Given the description of an element on the screen output the (x, y) to click on. 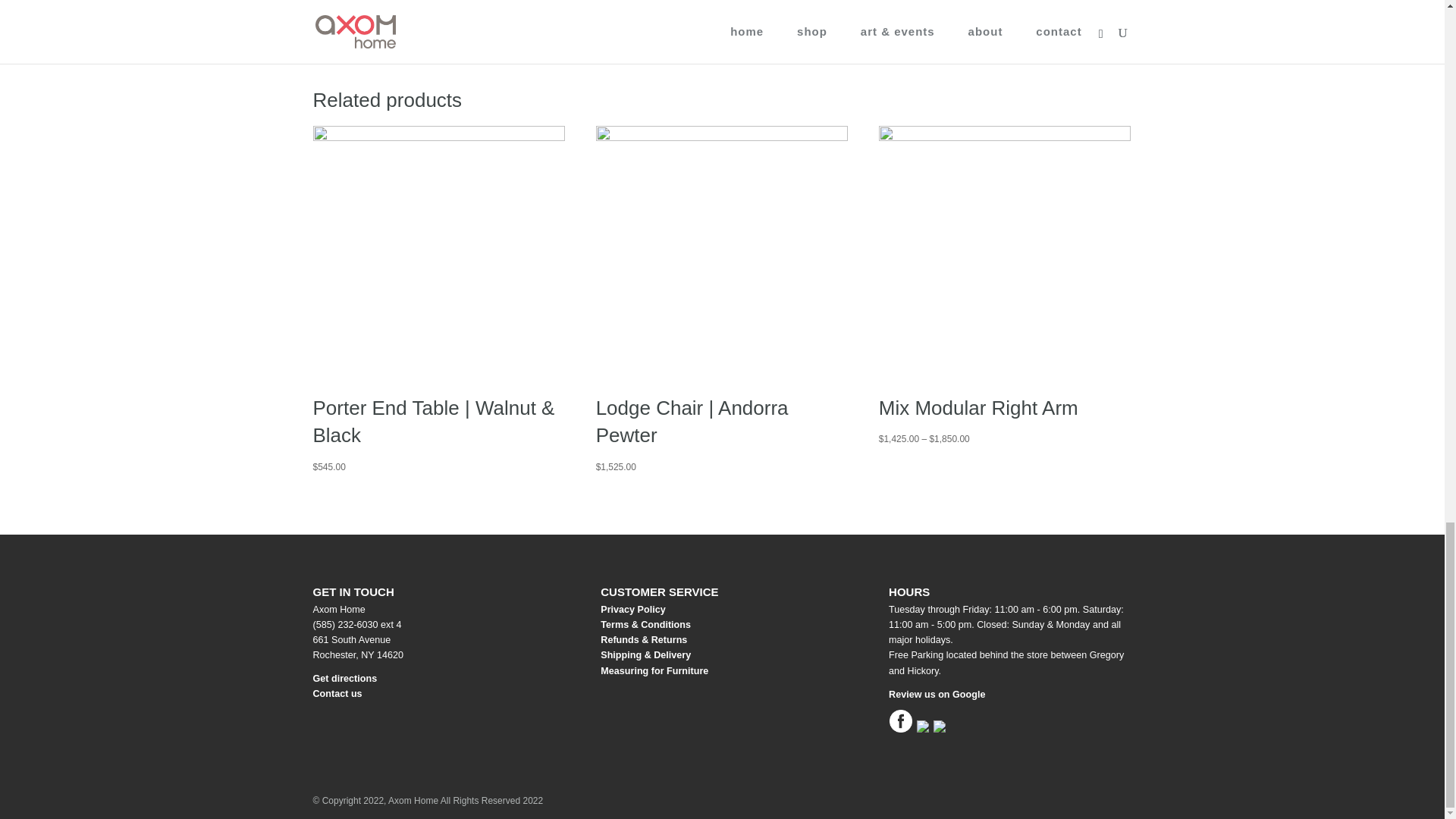
Privacy Policy (632, 609)
Contact us (337, 693)
Get directions (345, 678)
Measuring for Furniture (653, 670)
Review us on Google (936, 694)
